Given the description of an element on the screen output the (x, y) to click on. 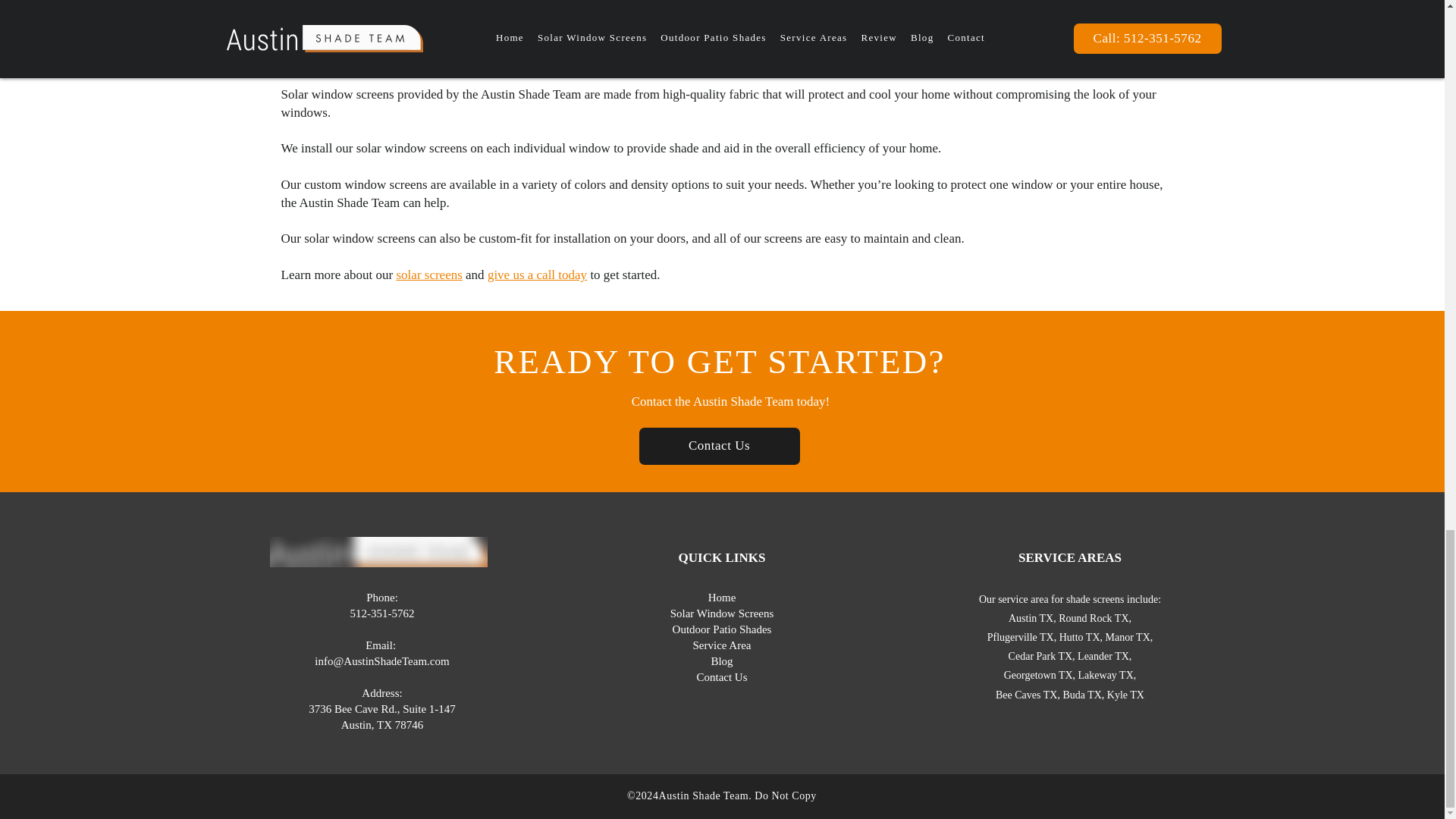
give us a call today (536, 274)
Outdoor Patio Shades (721, 629)
Solar Window Screens (721, 613)
Contact the Austin Shade Team (712, 400)
solar screens (428, 274)
roller shade screens. (526, 6)
Home (721, 597)
Contact Us (719, 446)
